Given the description of an element on the screen output the (x, y) to click on. 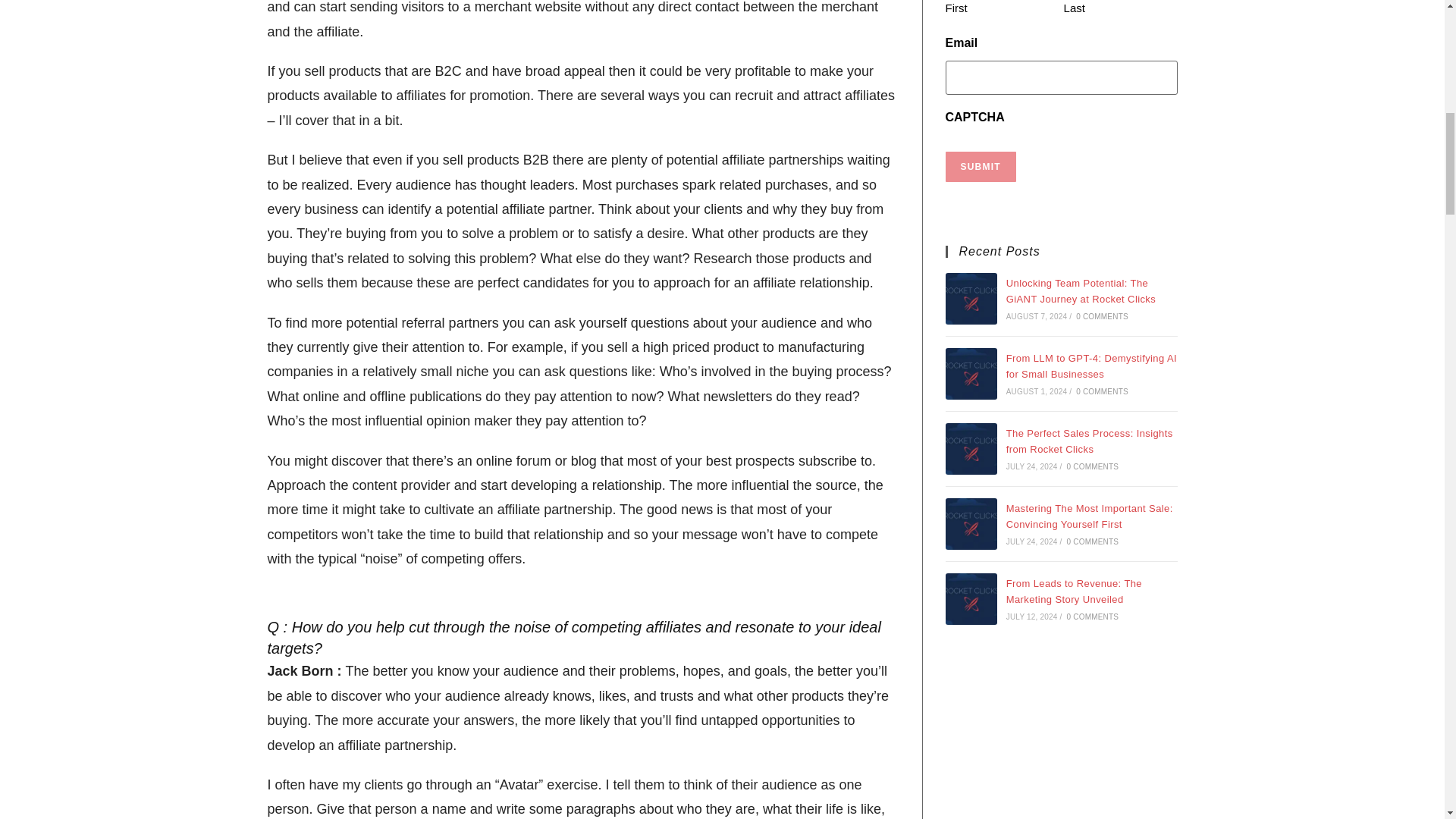
From Leads to Revenue: The Marketing Story Unveiled (969, 598)
Submit (979, 166)
From LLM to GPT-4: Demystifying AI for Small Businesses (969, 373)
Mastering The Most Important Sale: Convincing Yourself First (969, 523)
Unlocking Team Potential: The GiANT Journey at Rocket Clicks (969, 298)
The Perfect Sales Process: Insights from Rocket Clicks (969, 449)
